Given the description of an element on the screen output the (x, y) to click on. 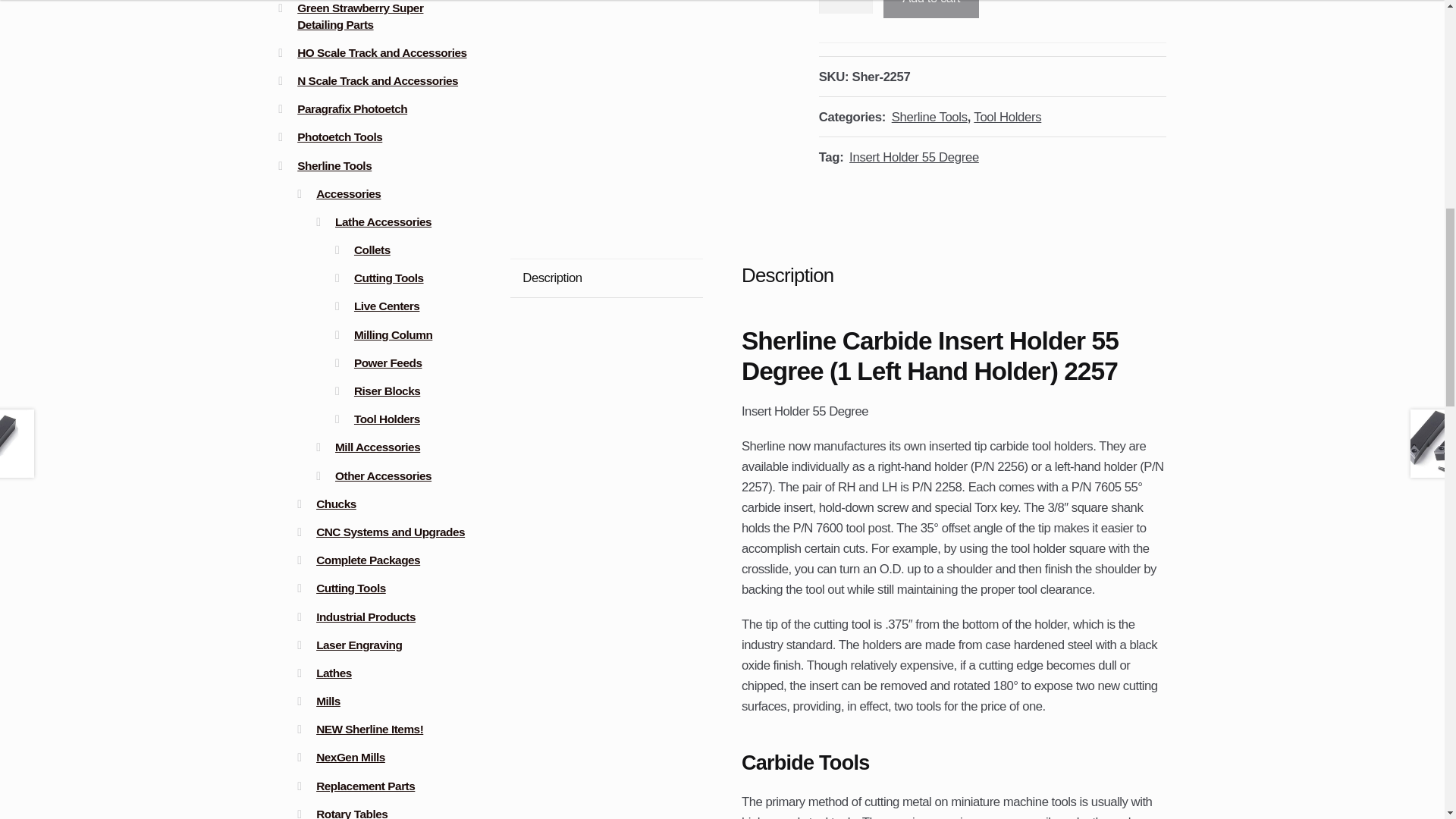
1 (845, 7)
Tool Holders (1007, 116)
Insert Holder 55 Degree (913, 156)
Add to cart (930, 9)
Description (607, 278)
Sherline Tools (929, 116)
